Given the description of an element on the screen output the (x, y) to click on. 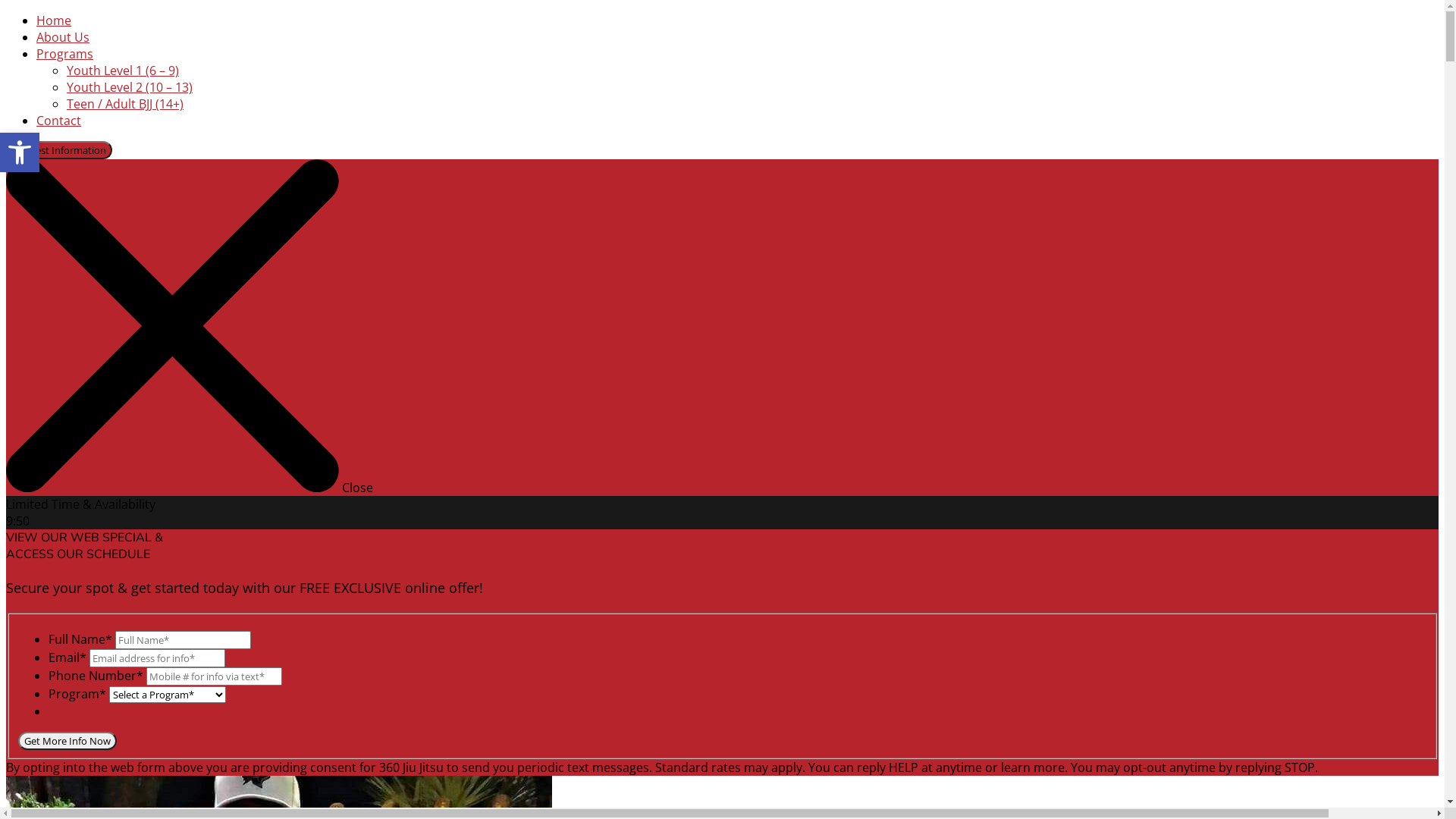
Programs Element type: text (64, 53)
Request Information Element type: text (59, 150)
Home Element type: text (53, 20)
Contact Element type: text (58, 120)
Teen / Adult BJJ (14+) Element type: text (124, 103)
Open toolbar
Accessibility Tools Element type: text (19, 152)
About Us Element type: text (62, 36)
Get More Info Now Element type: text (67, 740)
